Given the description of an element on the screen output the (x, y) to click on. 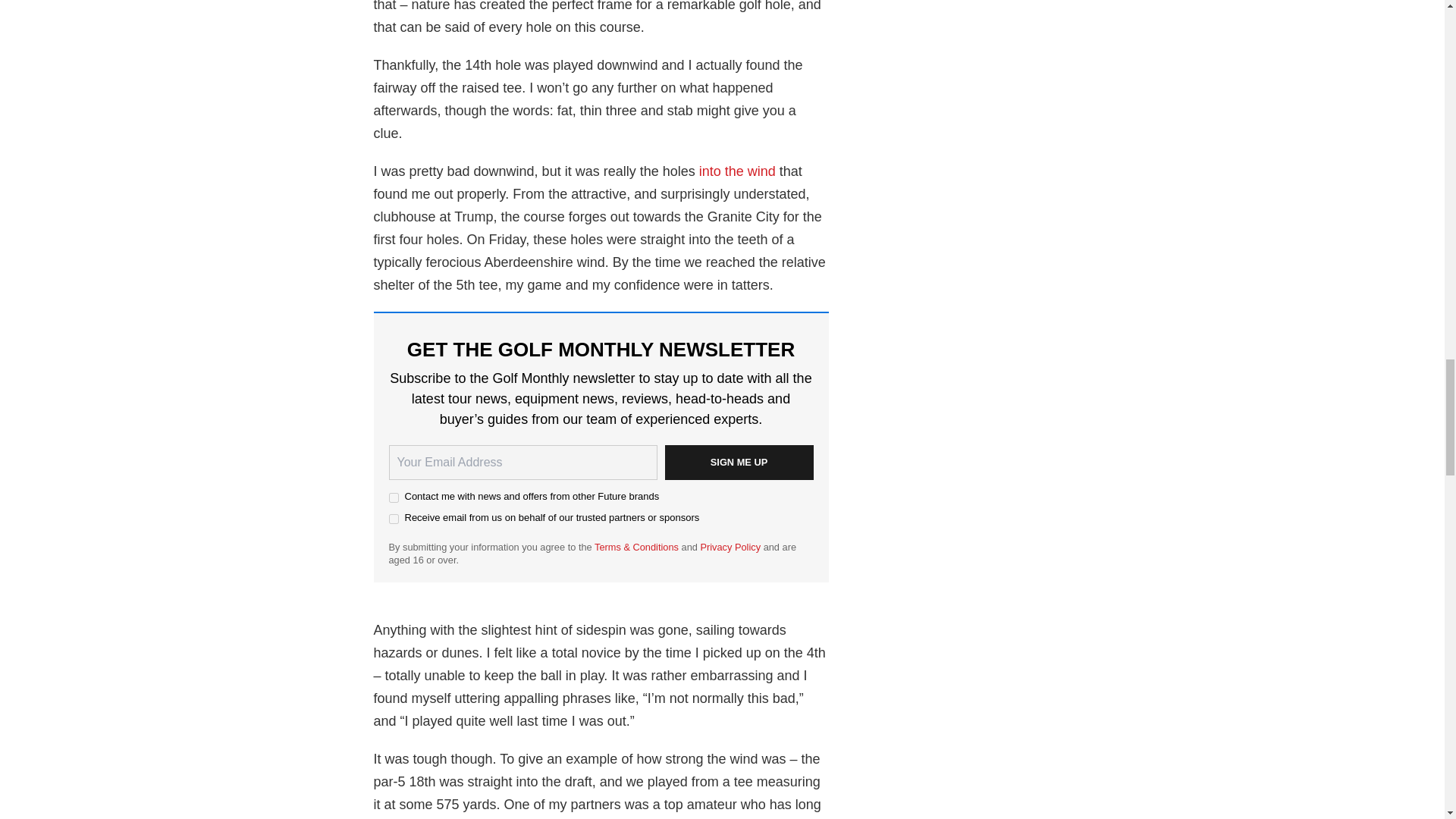
on (392, 497)
Sign me up (737, 462)
on (392, 519)
